Given the description of an element on the screen output the (x, y) to click on. 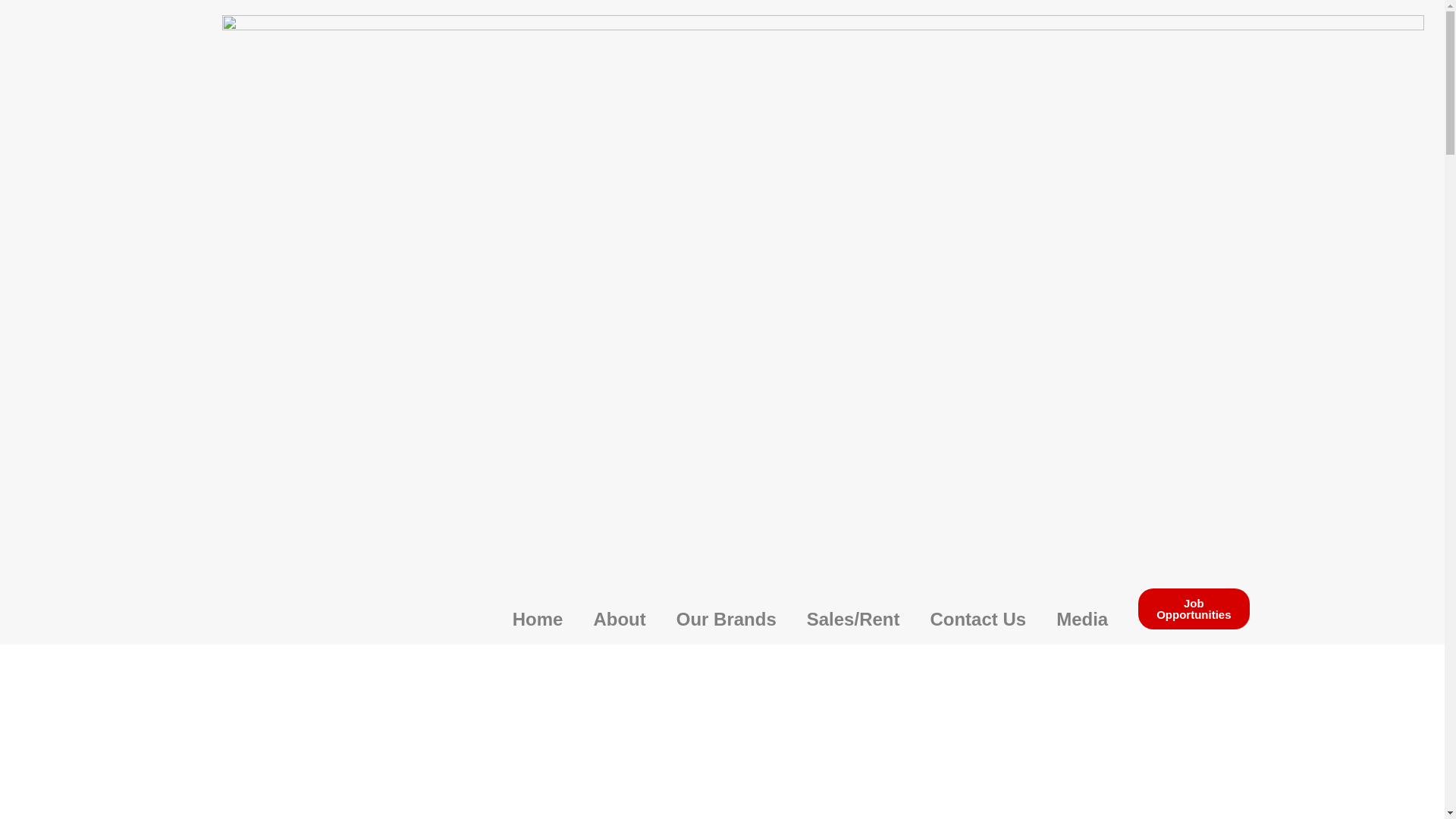
Home (537, 619)
Contact Us (977, 619)
Media (1081, 619)
About (619, 619)
Our Brands (726, 619)
